Given the description of an element on the screen output the (x, y) to click on. 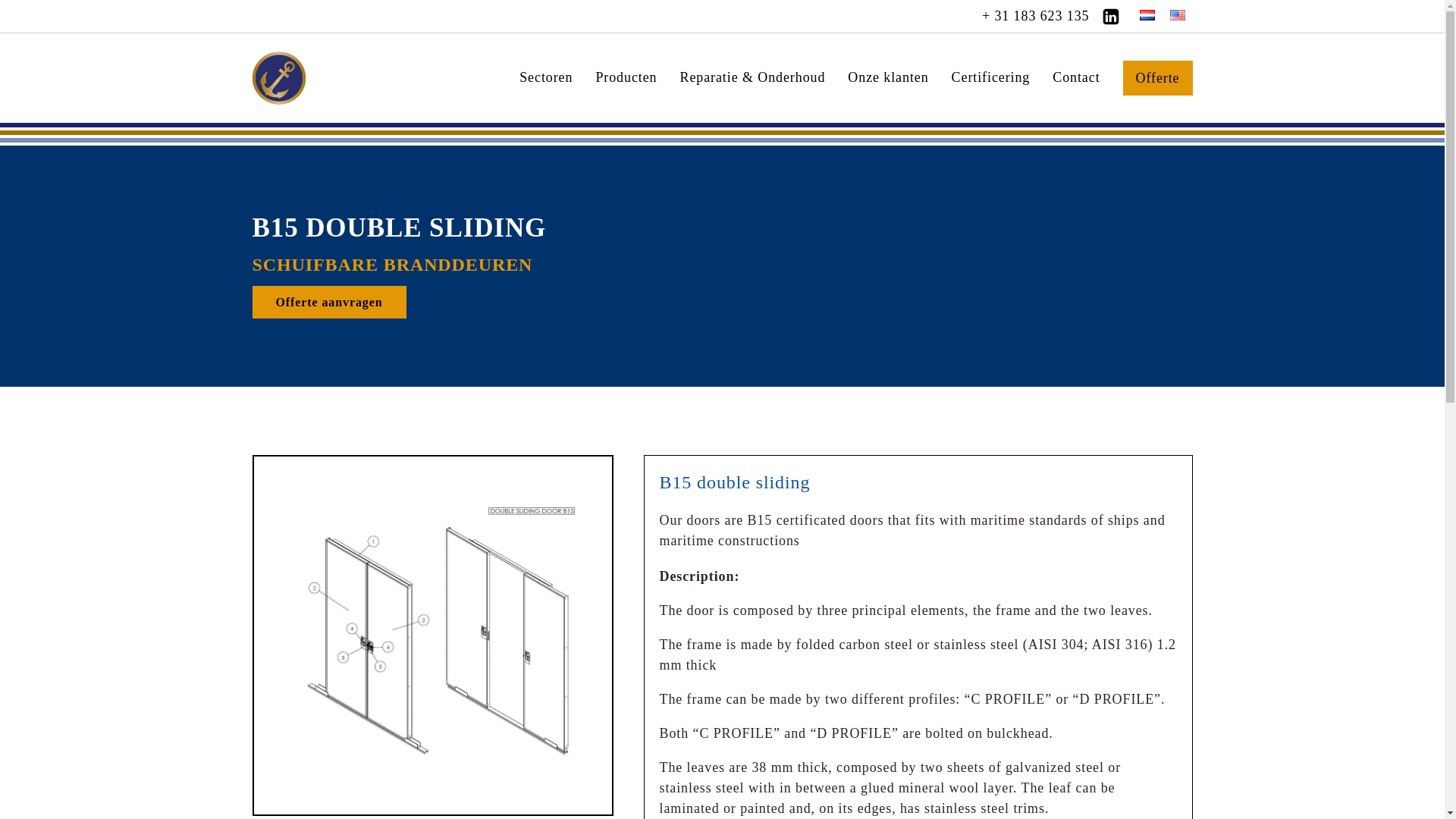
Sectoren (545, 77)
Producten (625, 77)
Offerte aanvragen (328, 301)
Contact (1075, 77)
Onze klanten (887, 77)
Certificering (991, 77)
Offerte (1157, 77)
SCHUIFBARE BRANDDEUREN (391, 264)
